Given the description of an element on the screen output the (x, y) to click on. 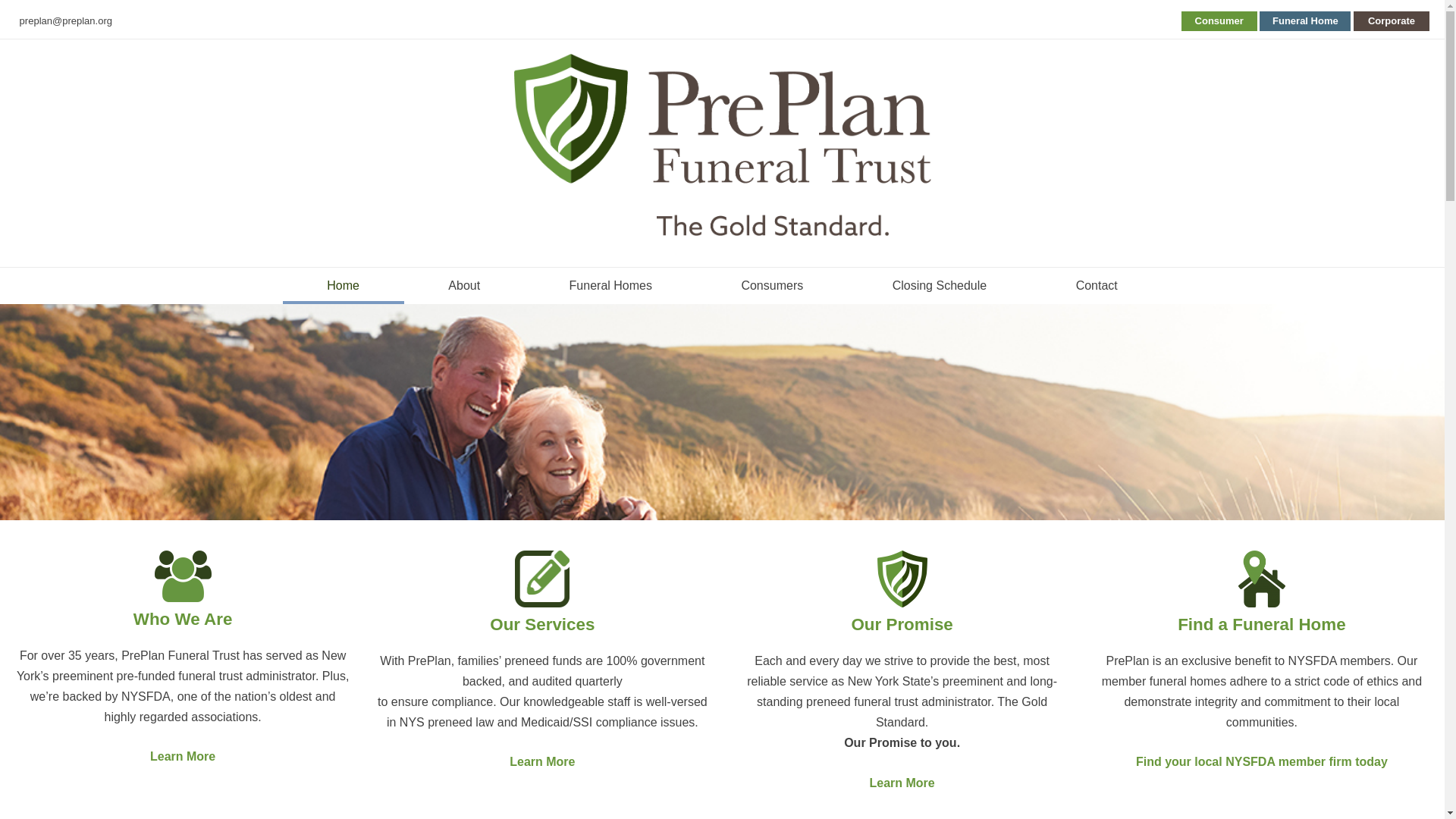
About (464, 285)
Contact (1095, 285)
Funeral Homes (610, 285)
Funeral Home (1305, 21)
Closing Schedule (938, 285)
Consumer (1218, 21)
Corporate (1391, 21)
Consumers (772, 285)
Home (342, 285)
Learn More (182, 756)
Search (27, 13)
